Given the description of an element on the screen output the (x, y) to click on. 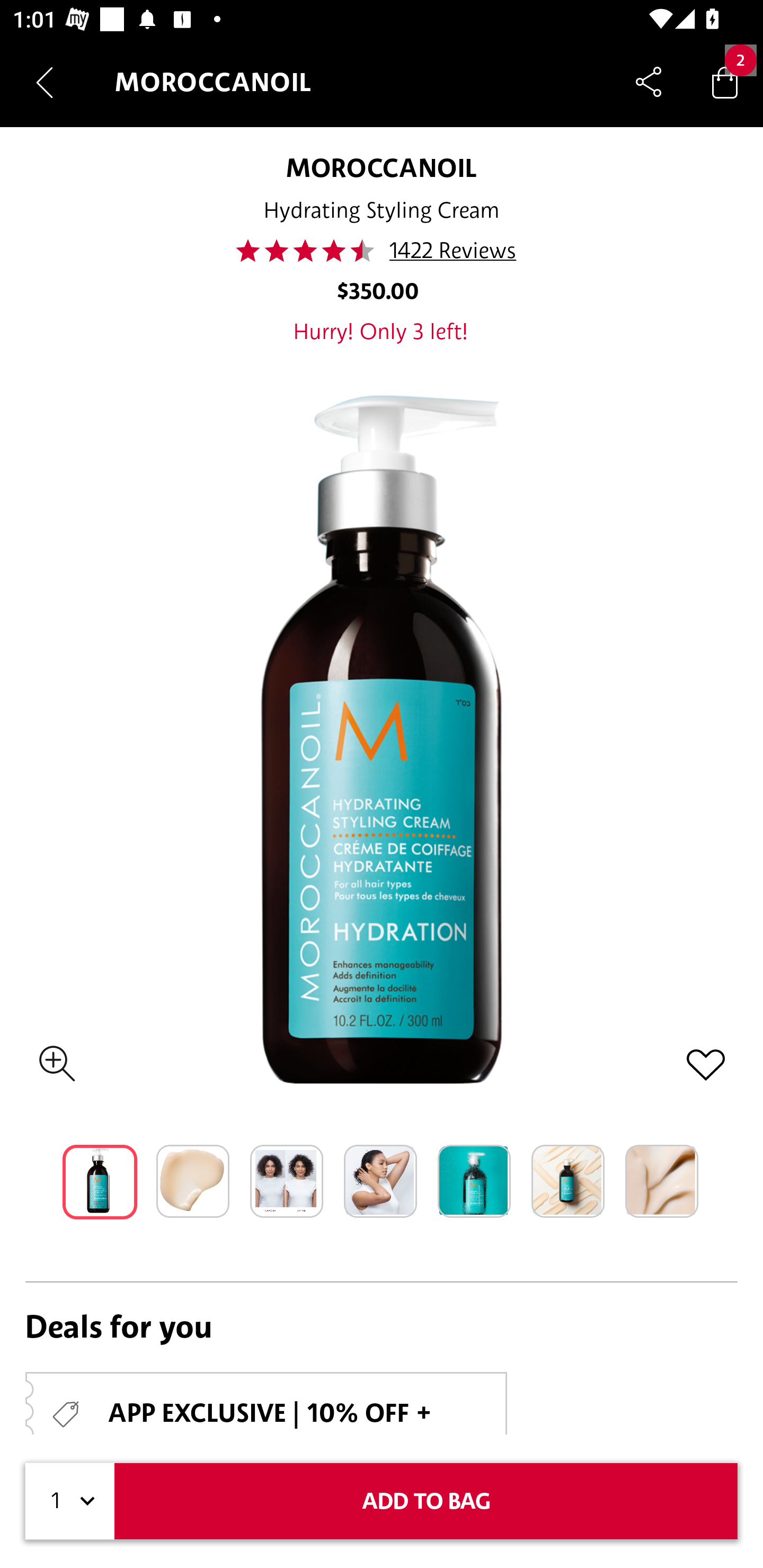
Navigate up (44, 82)
Share (648, 81)
Bag (724, 81)
MOROCCANOIL (381, 167)
45.0 1422 Reviews (381, 250)
1 (69, 1500)
ADD TO BAG (425, 1500)
